Given the description of an element on the screen output the (x, y) to click on. 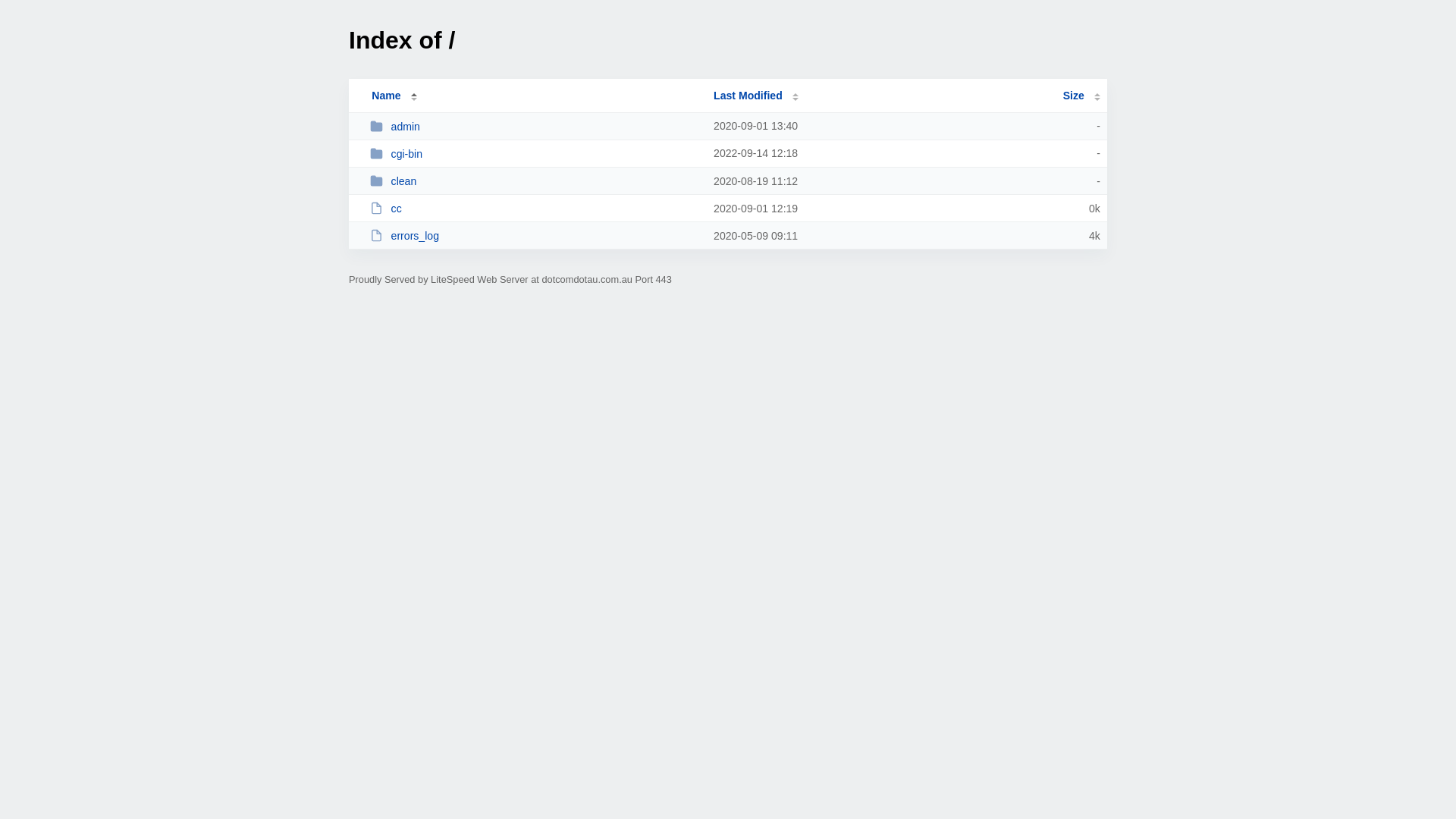
errors_log Element type: text (534, 235)
Last Modified Element type: text (755, 95)
Size Element type: text (1081, 95)
admin Element type: text (534, 125)
Name Element type: text (385, 95)
cgi-bin Element type: text (534, 153)
clean Element type: text (534, 180)
cc Element type: text (534, 207)
